Given the description of an element on the screen output the (x, y) to click on. 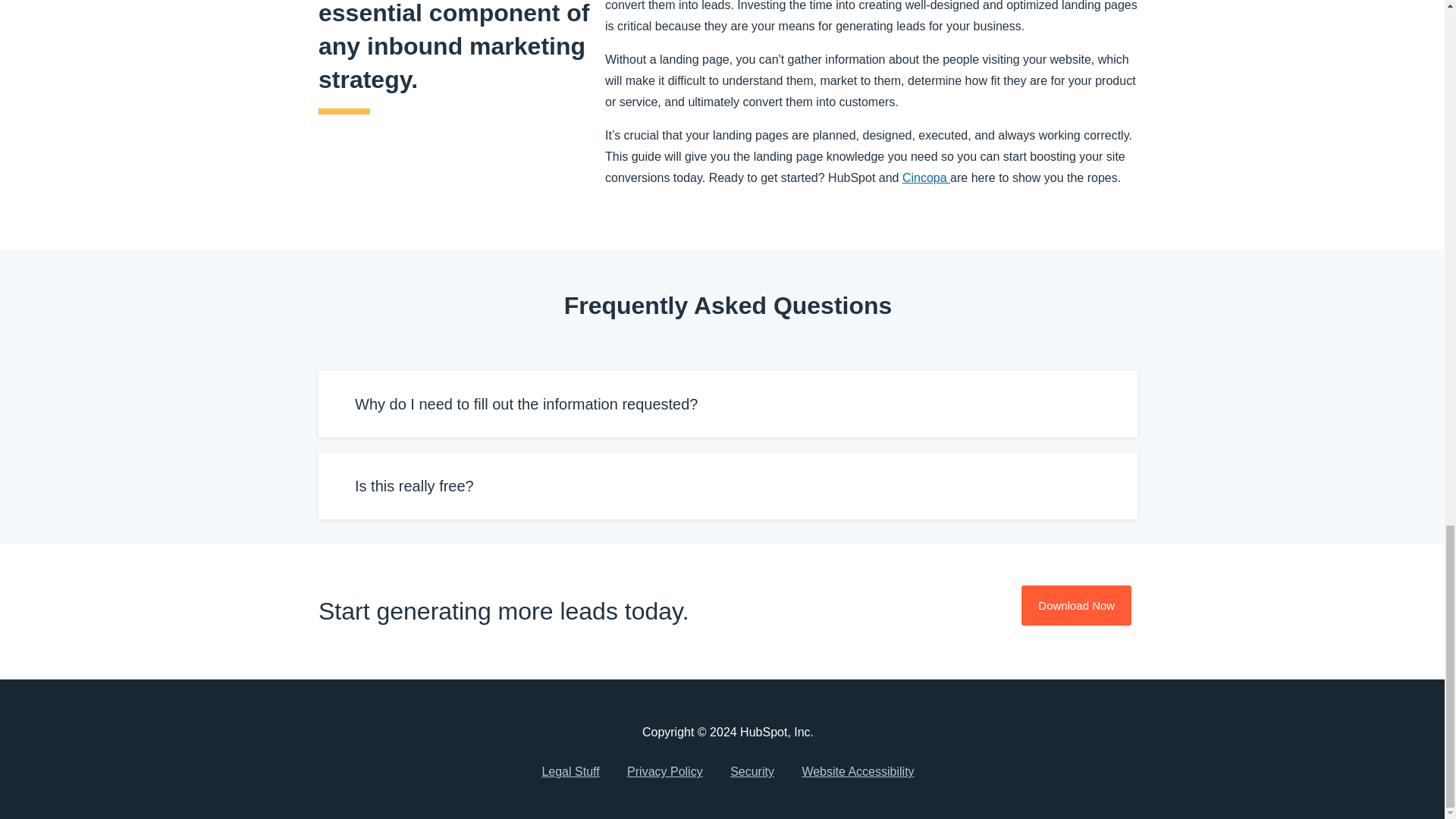
Is this really free? (727, 485)
Download Now (1076, 605)
Cincopa (926, 177)
Website Accessibility (857, 771)
Security (751, 771)
Why do I need to fill out the information requested? (727, 404)
Legal Stuff (570, 771)
Privacy Policy (664, 771)
